Given the description of an element on the screen output the (x, y) to click on. 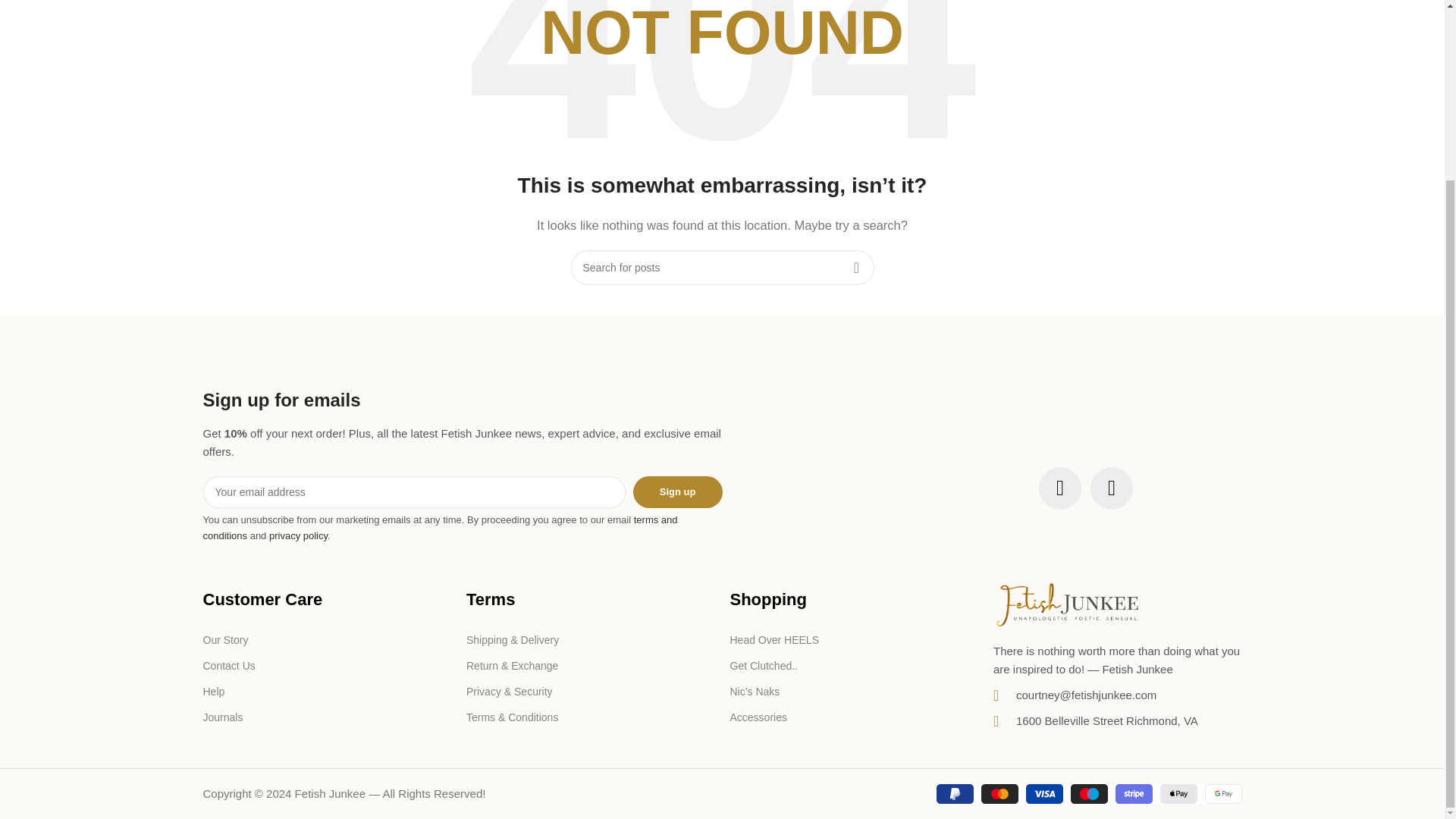
Accessories (853, 717)
Head Over HEELS (853, 639)
Sign up (677, 491)
privacy policy (298, 535)
Journals (327, 717)
Get Clutched.. (853, 665)
Search for posts (721, 267)
terms and conditions (440, 527)
Contact Us (327, 665)
Sign up (677, 491)
